Given the description of an element on the screen output the (x, y) to click on. 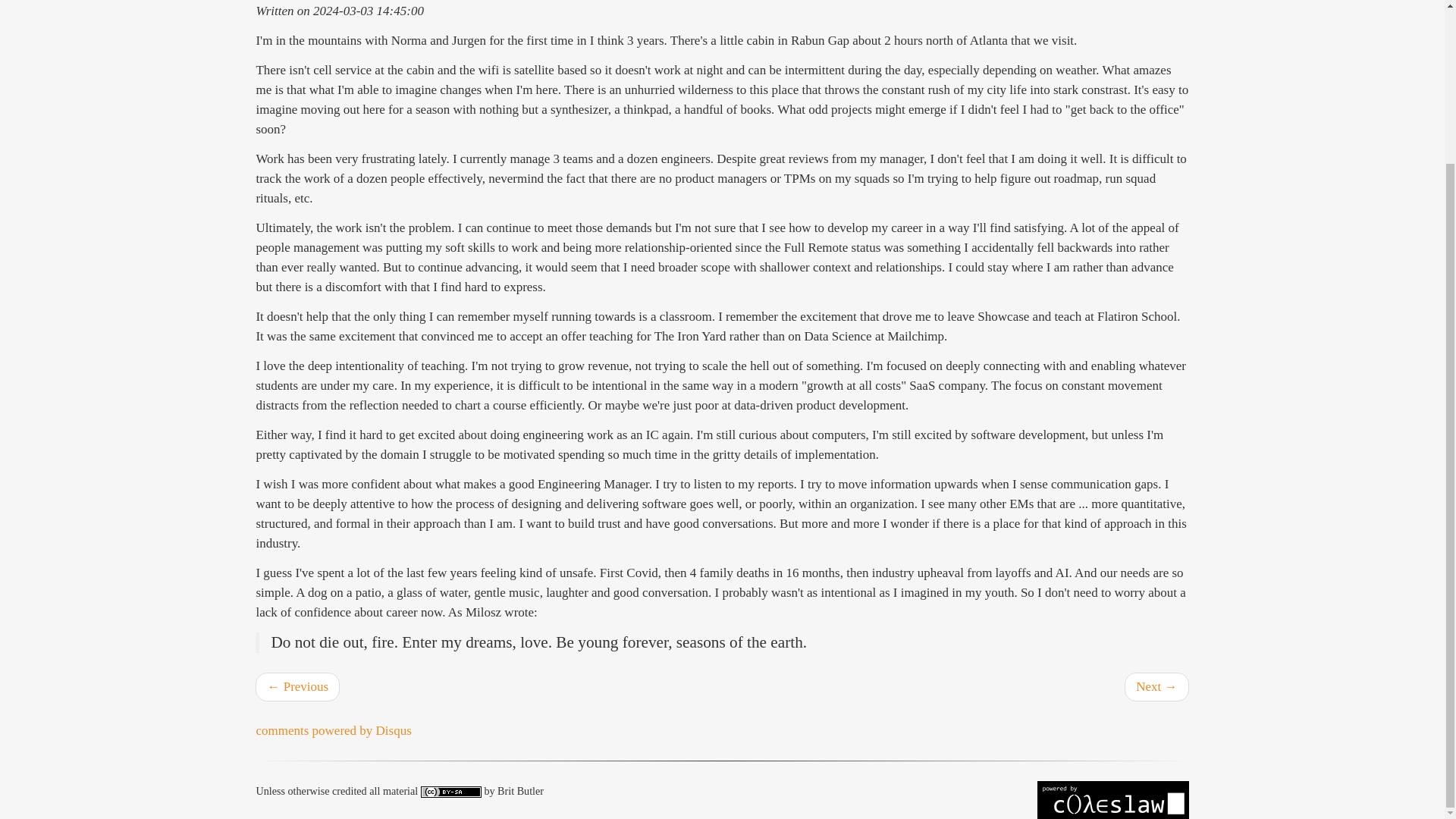
comments powered by Disqus (333, 730)
